Given the description of an element on the screen output the (x, y) to click on. 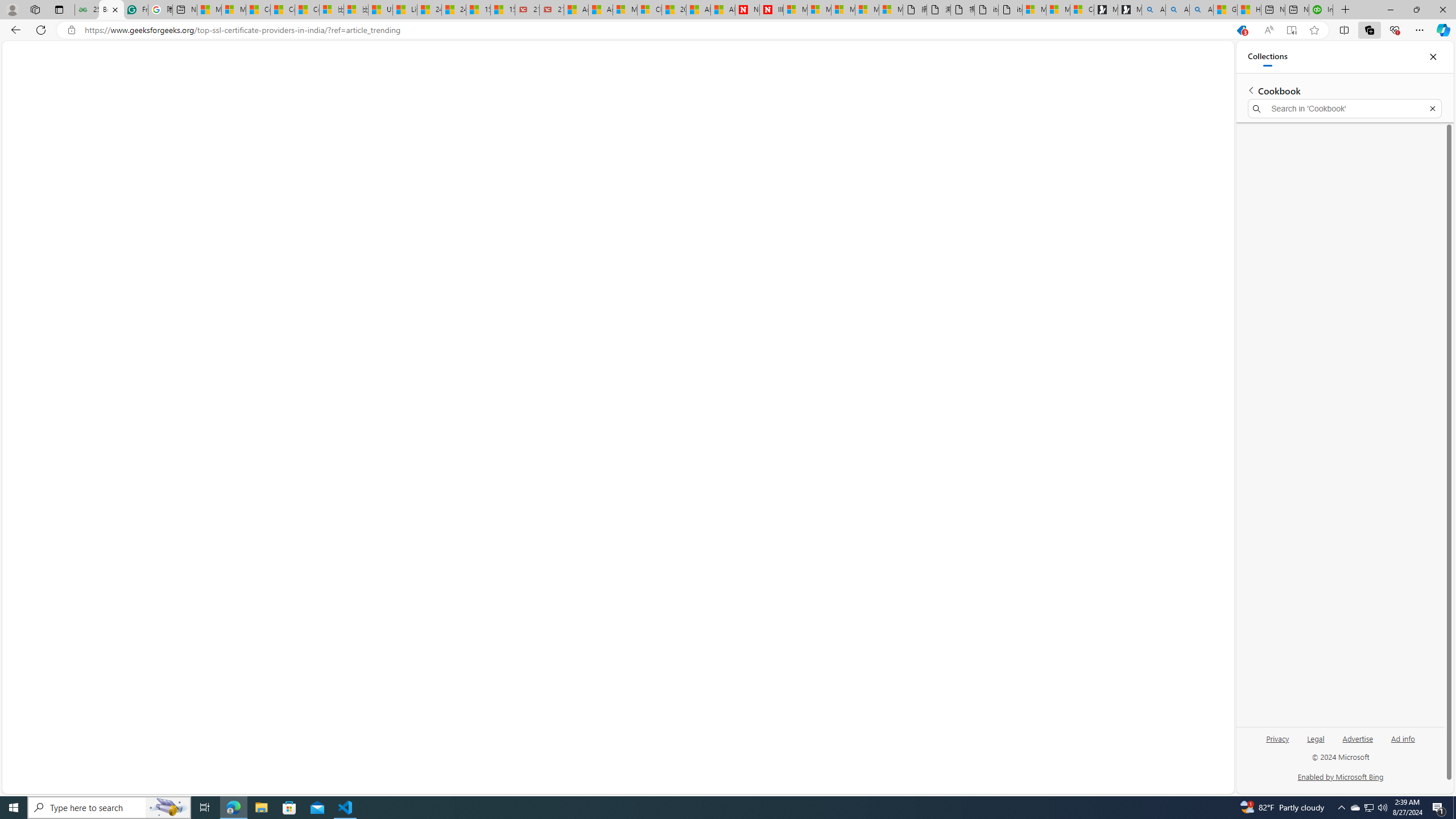
Best SSL Certificates Provider in India (1119, 153)
AutomationID: gradient4 (156, 319)
This site has coupons! Shopping in Microsoft Edge (1241, 29)
Logo (723, 54)
AutomationID: bg5 (1121, 414)
Back to list of collections (1250, 90)
ChatGPT Blogs (376, 80)
NEWS (86, 80)
ChatGPT Tutorial (592, 80)
